Given the description of an element on the screen output the (x, y) to click on. 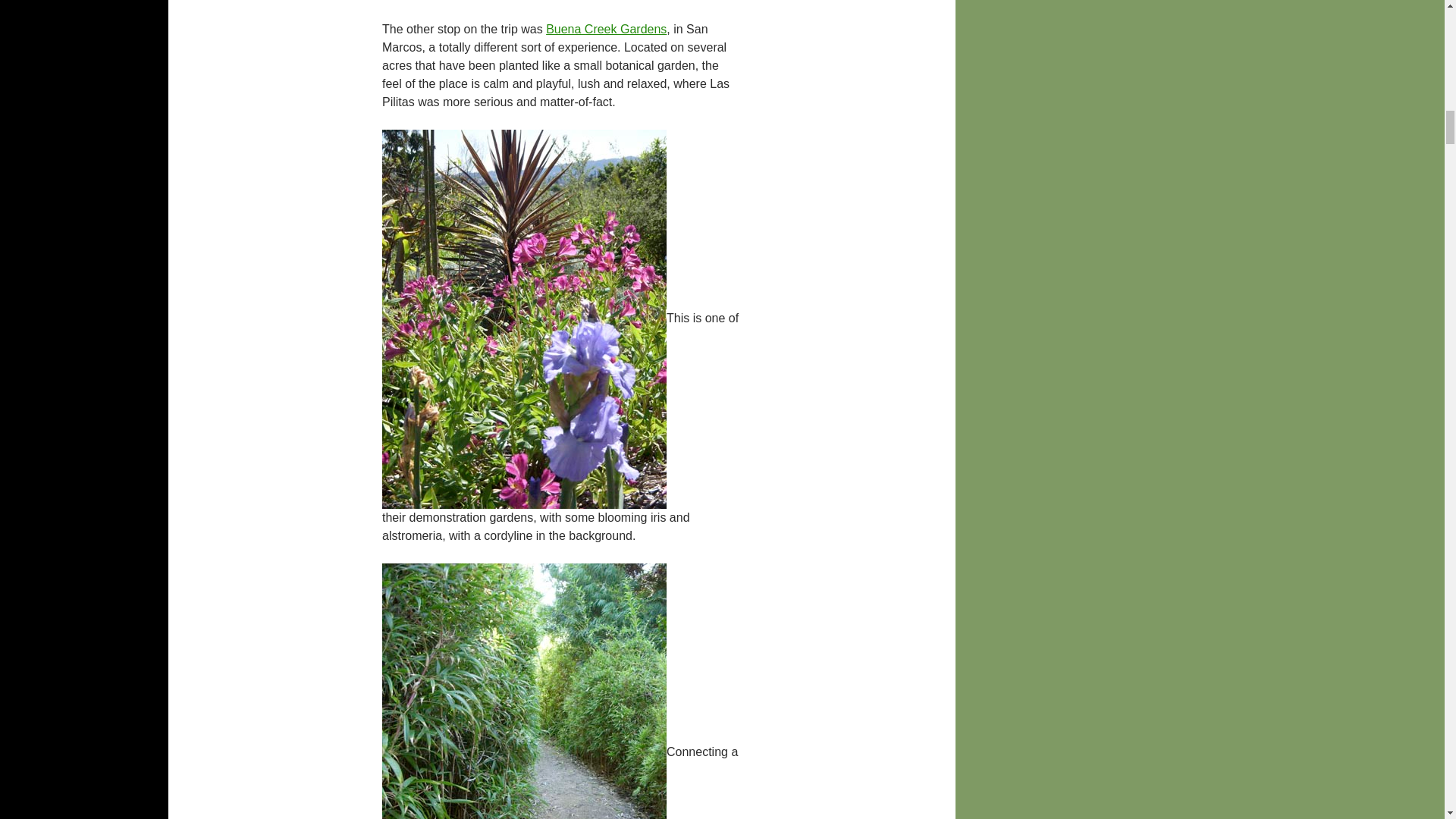
buenabamboo.jpg (523, 751)
buenairis.jpg (523, 318)
Buena Creek Gardens (606, 29)
